Given the description of an element on the screen output the (x, y) to click on. 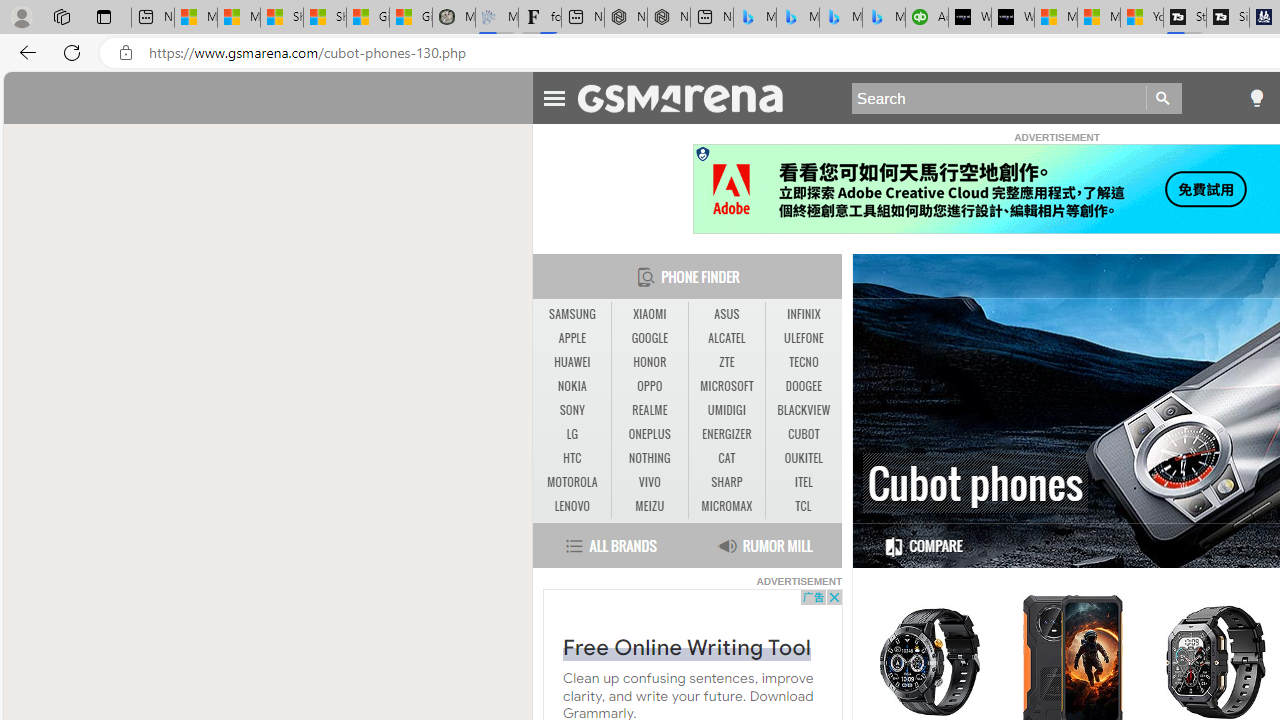
NOTHING (649, 458)
ALCATEL (726, 338)
ULEFONE (803, 338)
ITEL (803, 482)
